Given the description of an element on the screen output the (x, y) to click on. 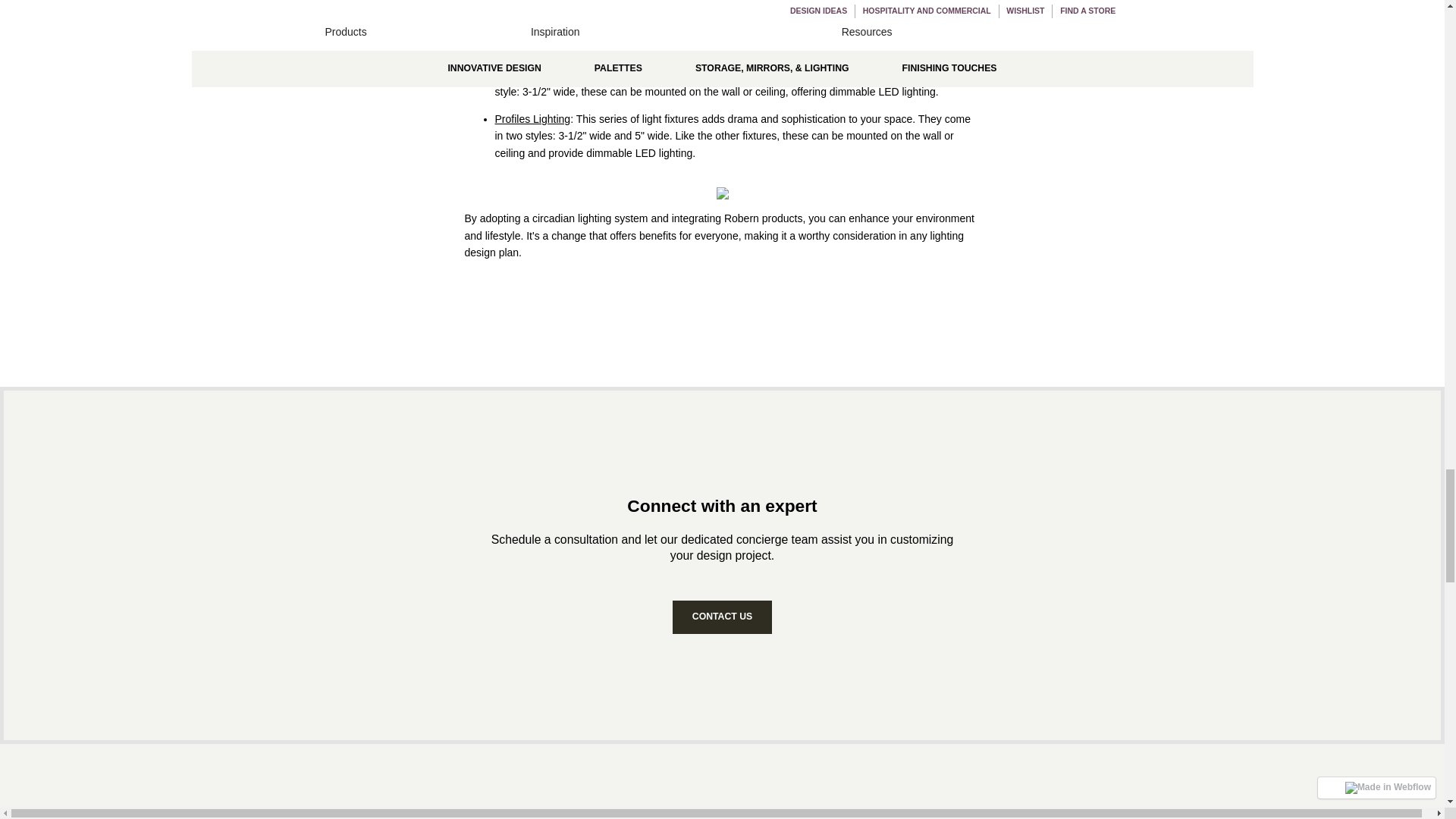
Vesper Lighting (531, 29)
Profiles Lighting (532, 119)
InLine Lighting (529, 73)
